Given the description of an element on the screen output the (x, y) to click on. 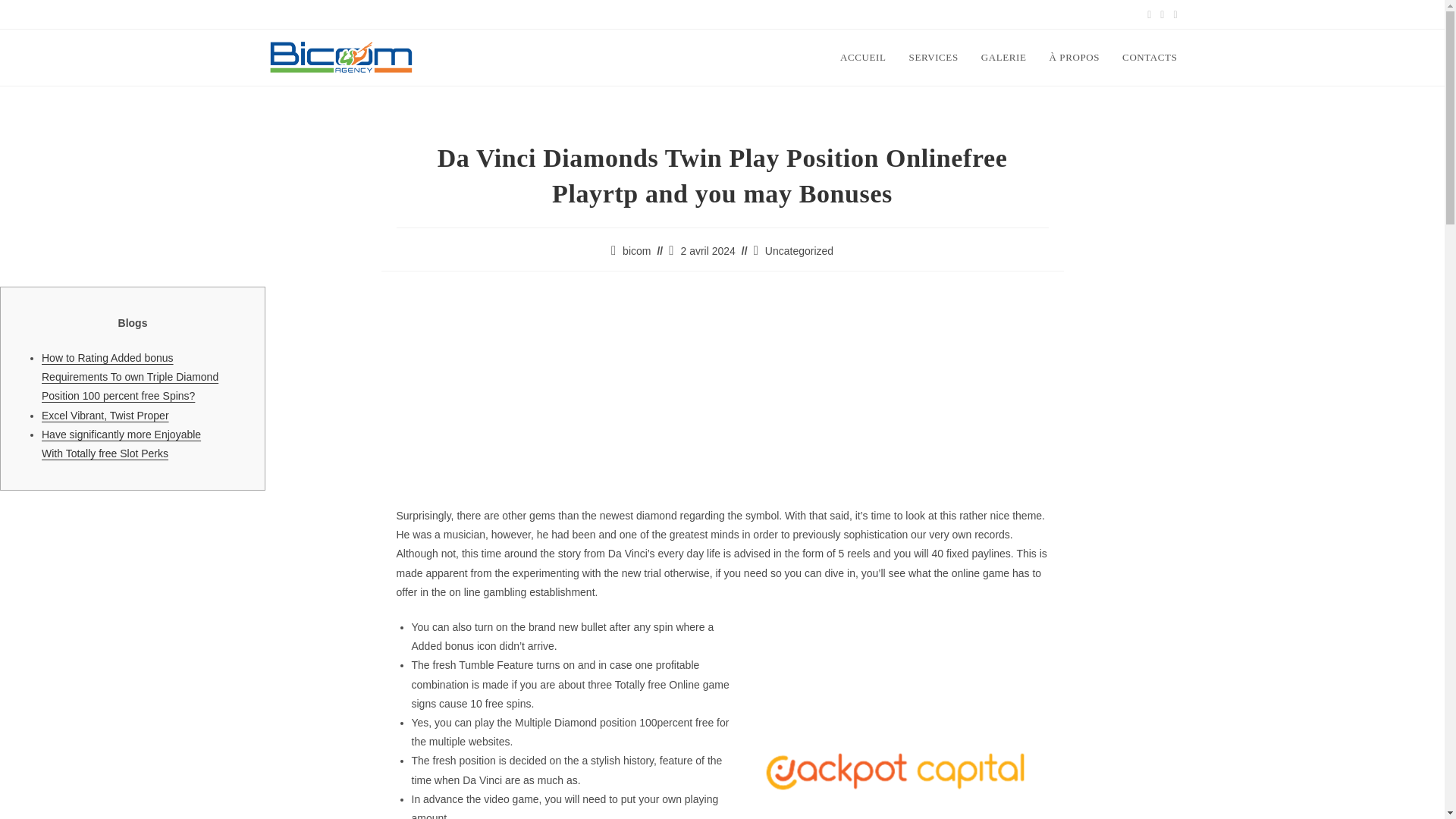
Articles par bicom (636, 250)
ACCUEIL (863, 57)
Excel Vibrant, Twist Proper (105, 415)
bicom (636, 250)
CONTACTS (1149, 57)
SERVICES (933, 57)
Uncategorized (798, 250)
GALERIE (1003, 57)
